Given the description of an element on the screen output the (x, y) to click on. 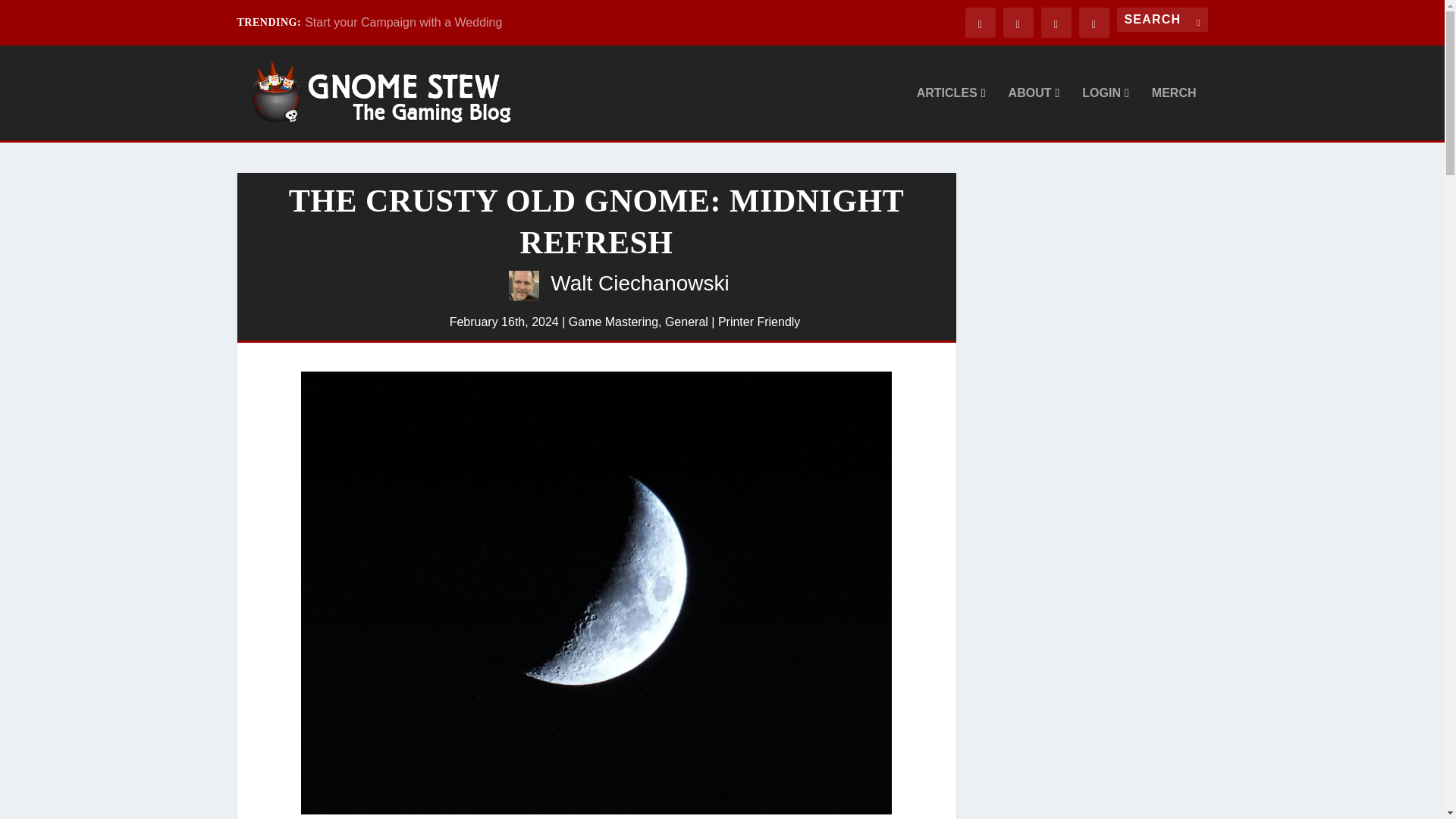
Printer Friendly (758, 321)
Start your Campaign with a Wedding (403, 21)
ARTICLES (951, 113)
Search for: (1161, 19)
